Given the description of an element on the screen output the (x, y) to click on. 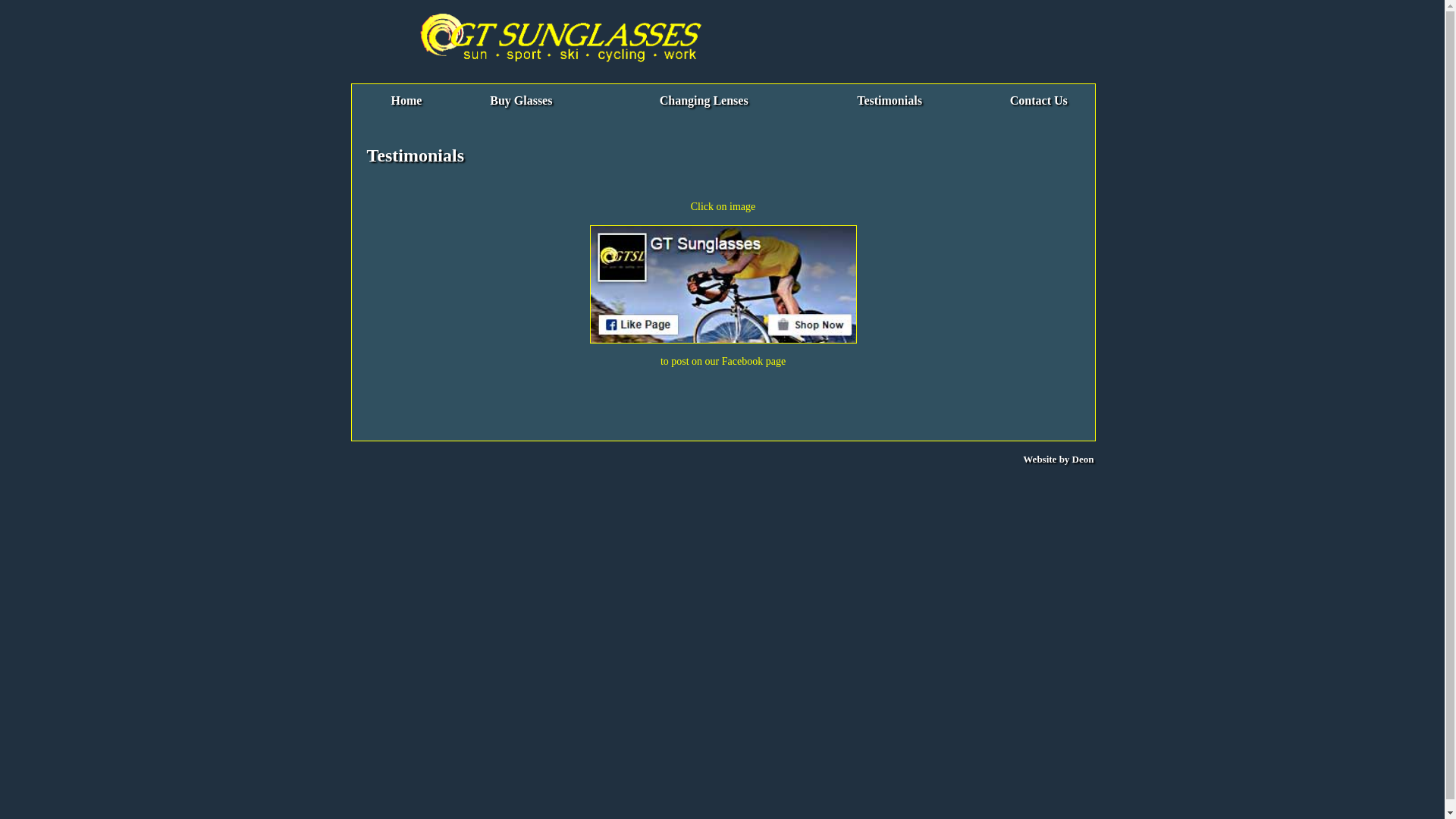
Home Element type: text (405, 100)
Changing Lenses Element type: text (703, 100)
Testimonials Element type: text (889, 100)
Contact Us Element type: text (1038, 100)
Website by Deon Element type: text (1057, 457)
Buy Glasses Element type: text (520, 100)
